Given the description of an element on the screen output the (x, y) to click on. 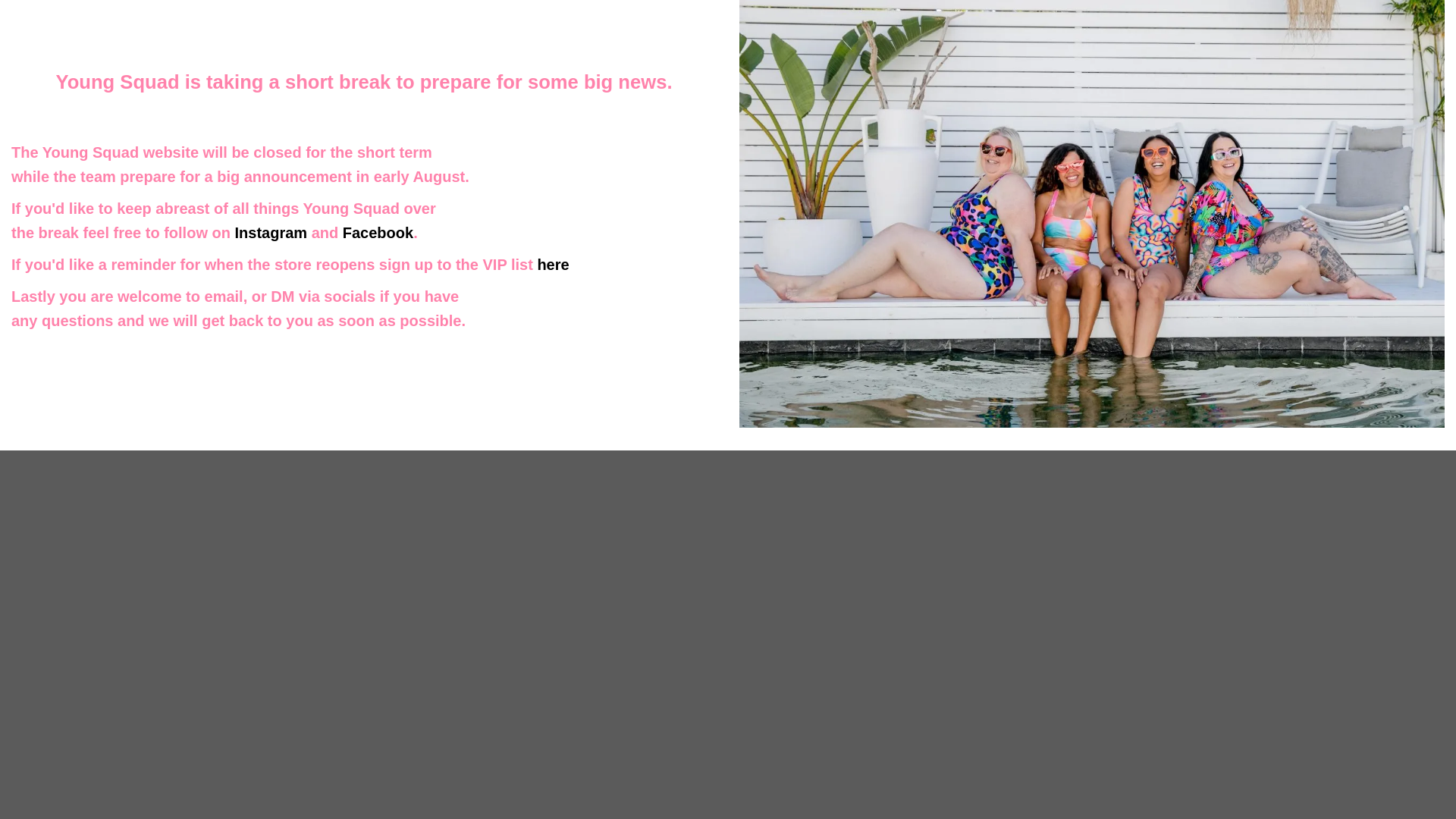
Instagram (270, 232)
here (553, 264)
Facebook (377, 232)
